Given the description of an element on the screen output the (x, y) to click on. 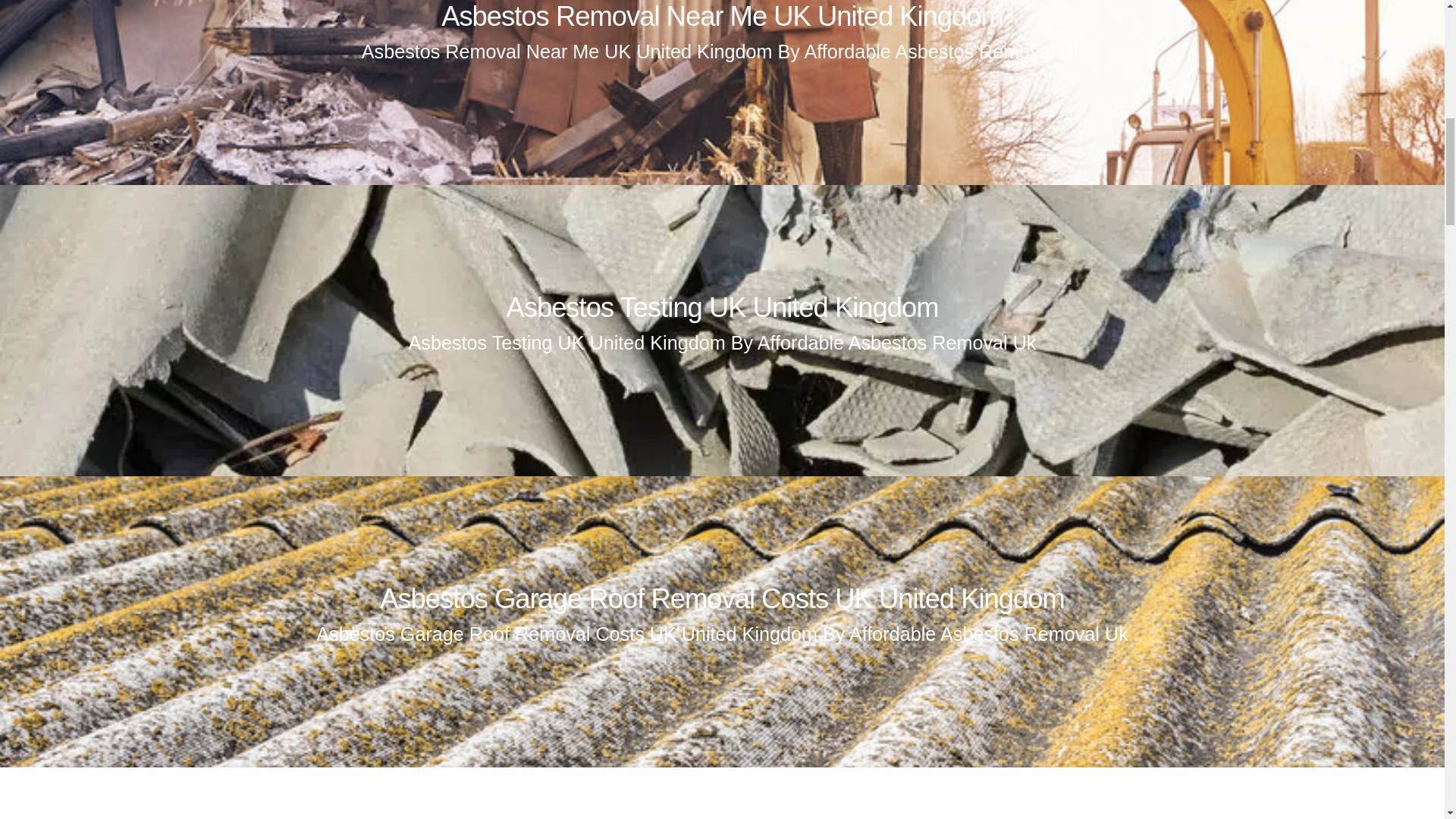
Asbestos Testing UK United Kingdom (721, 306)
Asbestos Removal Near Me UK United Kingdom (722, 15)
Asbestos Garage Roof Removal Costs UK United Kingdom (722, 598)
